Given the description of an element on the screen output the (x, y) to click on. 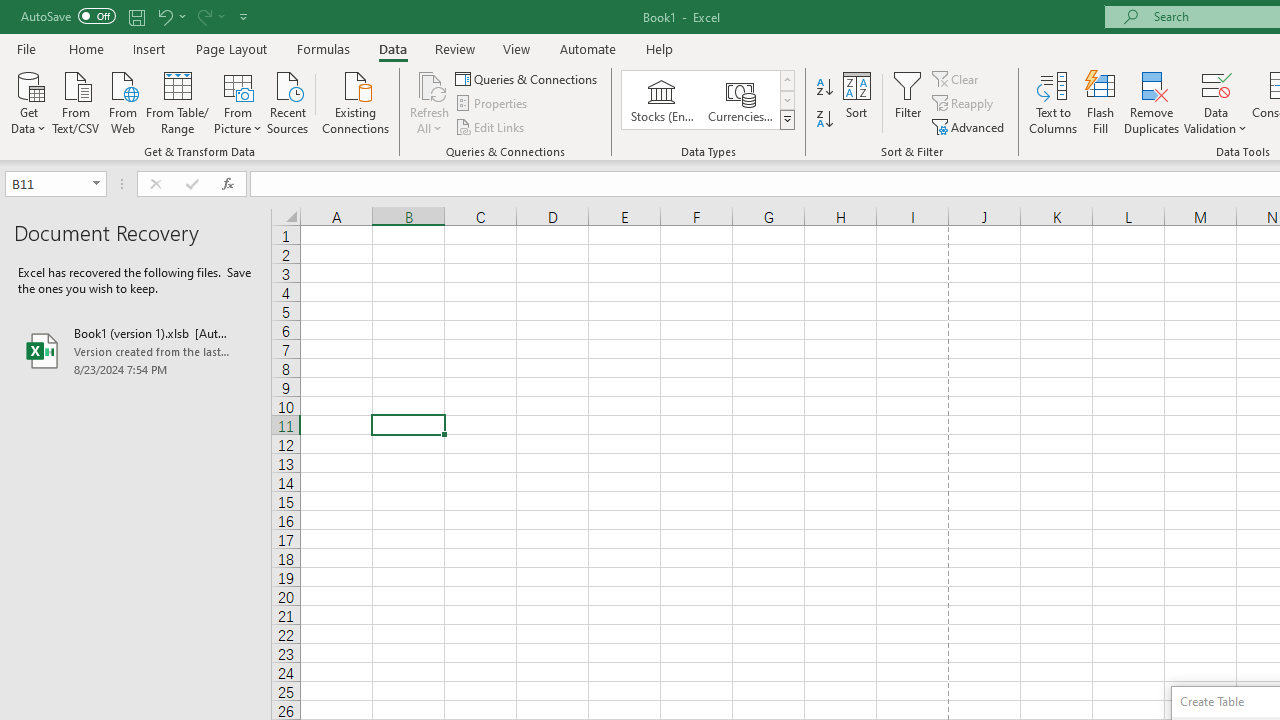
Automate (588, 48)
From Text/CSV (75, 101)
Undo (170, 15)
Name Box (46, 183)
Help (660, 48)
Data (392, 48)
Flash Fill (1101, 102)
Row up (786, 79)
Name Box (56, 183)
Get Data (28, 101)
Sort Z to A (824, 119)
Queries & Connections (527, 78)
Clear (957, 78)
Data Validation... (1215, 102)
